Given the description of an element on the screen output the (x, y) to click on. 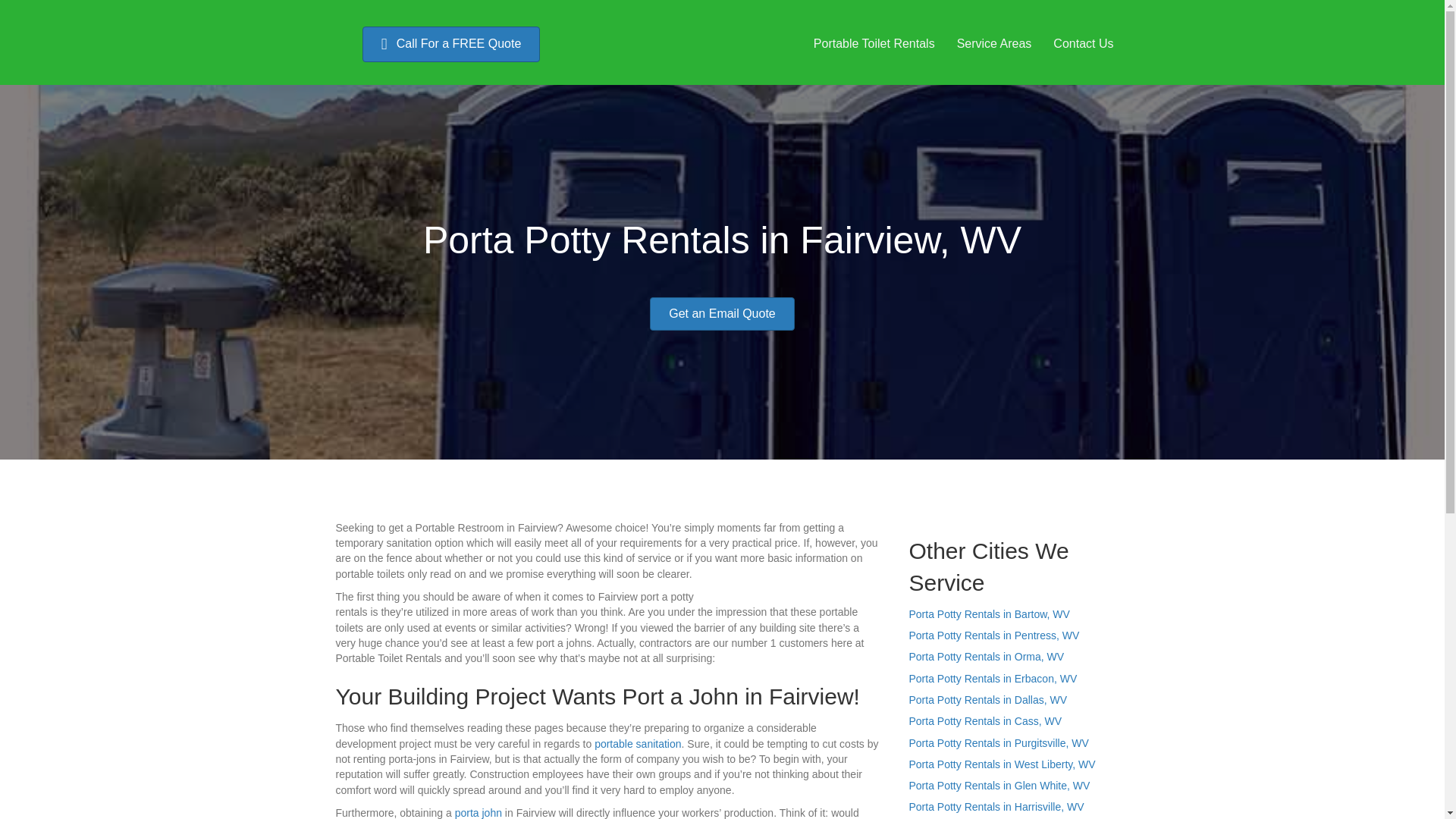
Porta Potty Rentals in Pentress, WV (993, 635)
Porta Potty Rentals in Orma, WV (986, 656)
Portable Toilet Rentals (873, 43)
Porta Potty Rentals in Harrisville, WV (995, 806)
Porta Potty Rentals in Orma, WV (986, 656)
Porta Potty Rentals in Glen White, WV (998, 785)
Porta Potty Rentals in Purgitsville, WV (997, 743)
Porta Potty Rentals in West Liberty, WV (1001, 764)
Porta Potty Rentals in West Liberty, WV (1001, 764)
Call For a FREE Quote (451, 44)
